Given the description of an element on the screen output the (x, y) to click on. 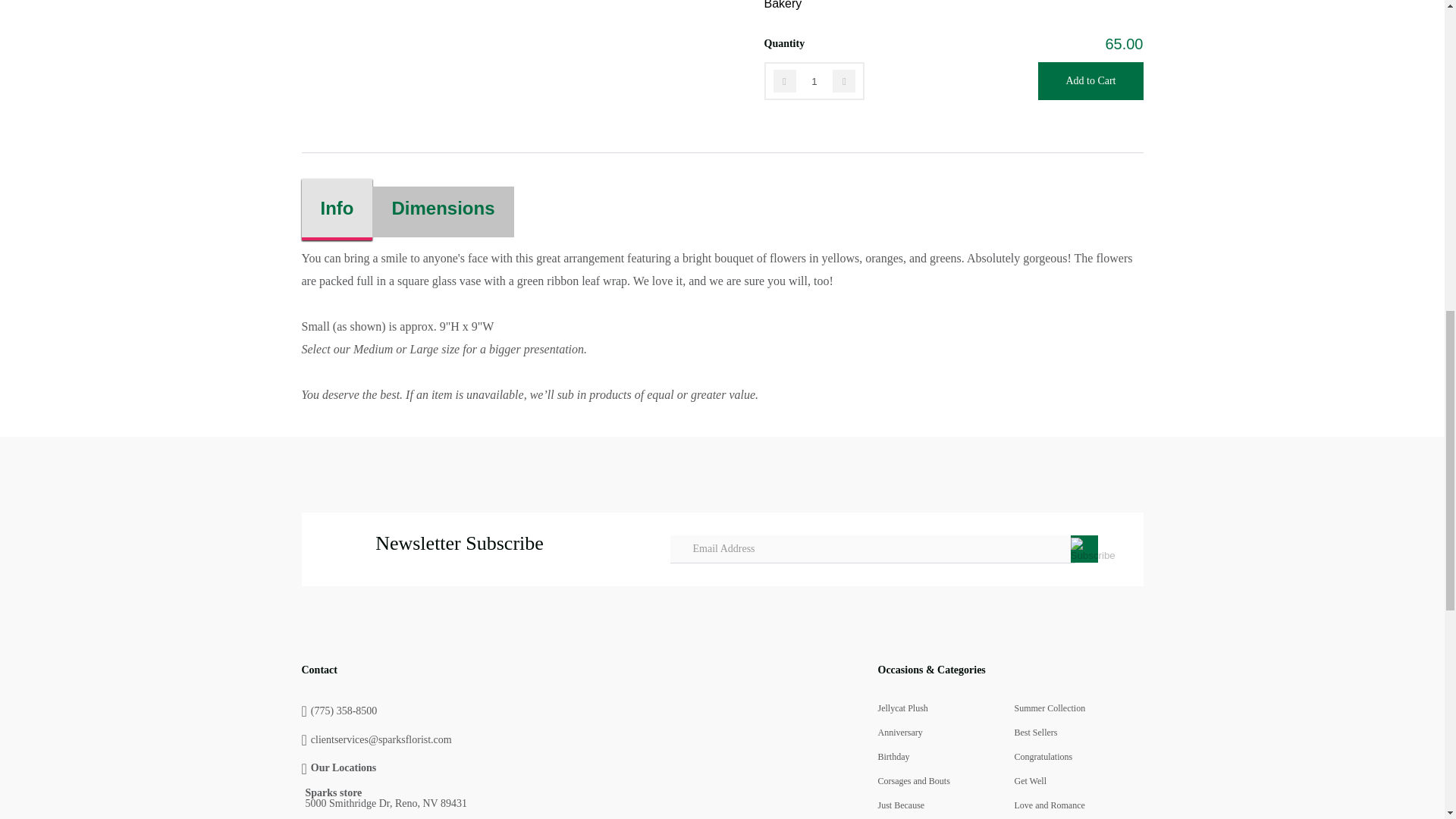
Increase Quantity (844, 80)
1 (814, 80)
Decrease Quantity (784, 80)
